Given the description of an element on the screen output the (x, y) to click on. 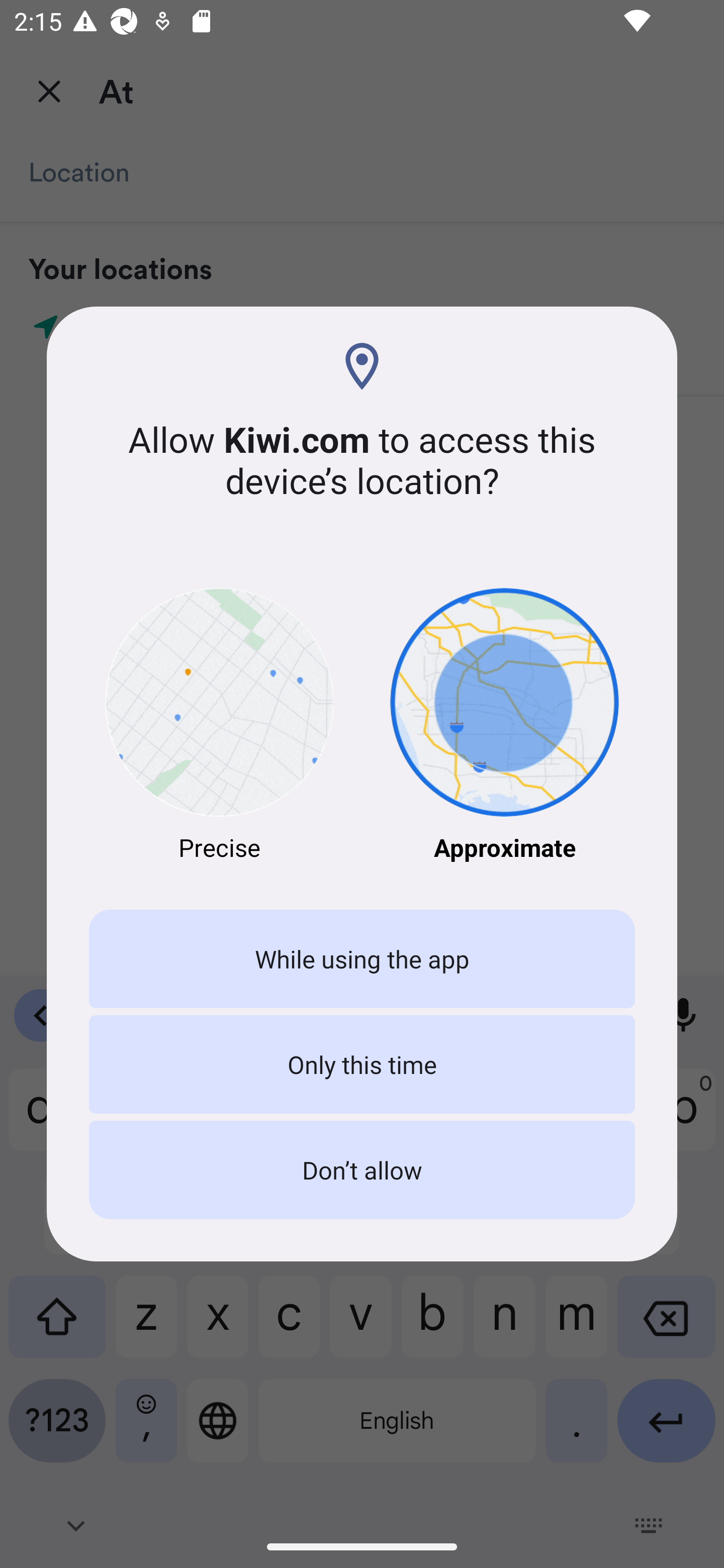
Precise (218, 725)
Approximate (504, 725)
While using the app (361, 958)
Only this time (361, 1063)
Don’t allow (361, 1170)
